Given the description of an element on the screen output the (x, y) to click on. 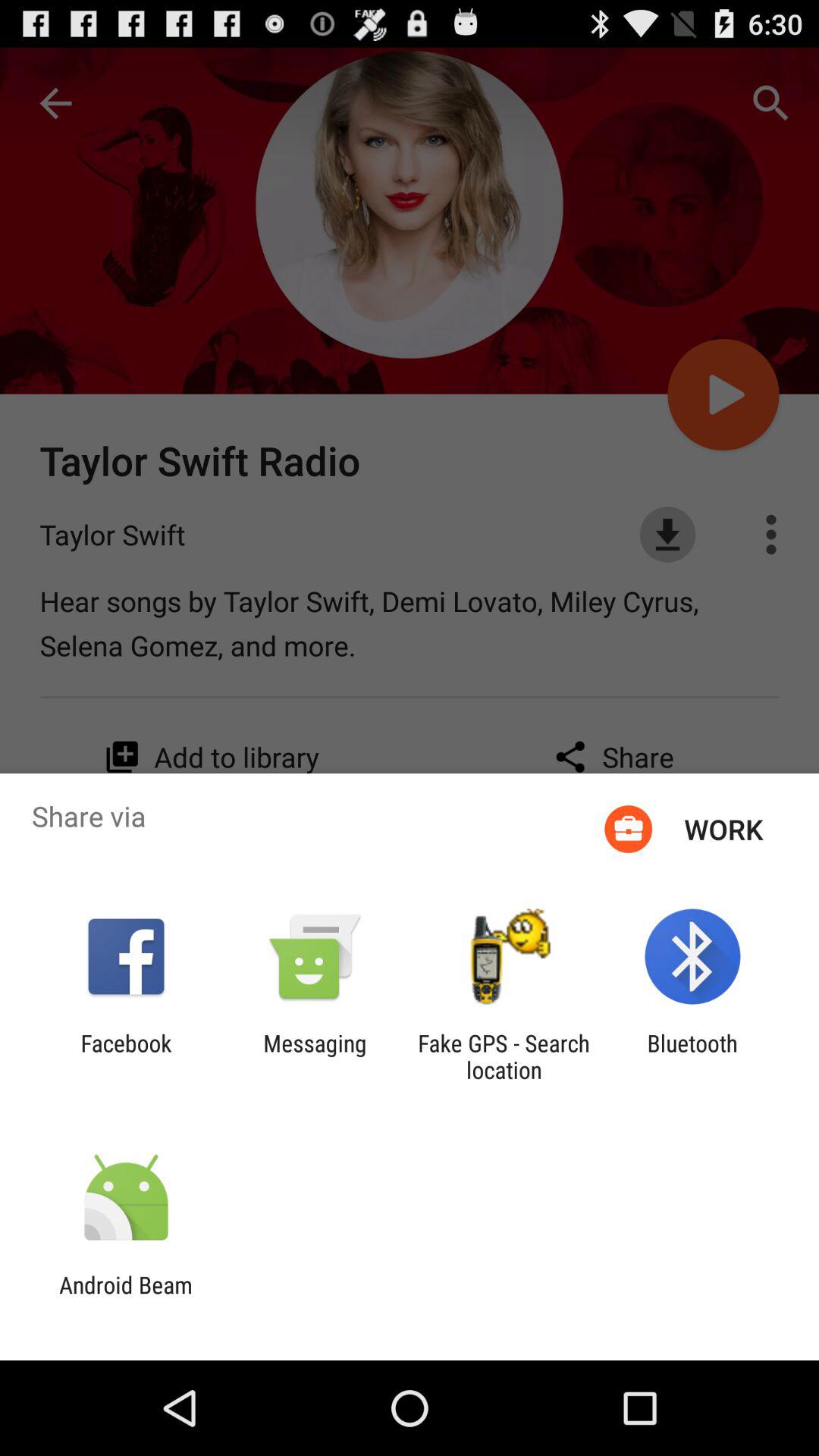
open the messaging (314, 1056)
